Given the description of an element on the screen output the (x, y) to click on. 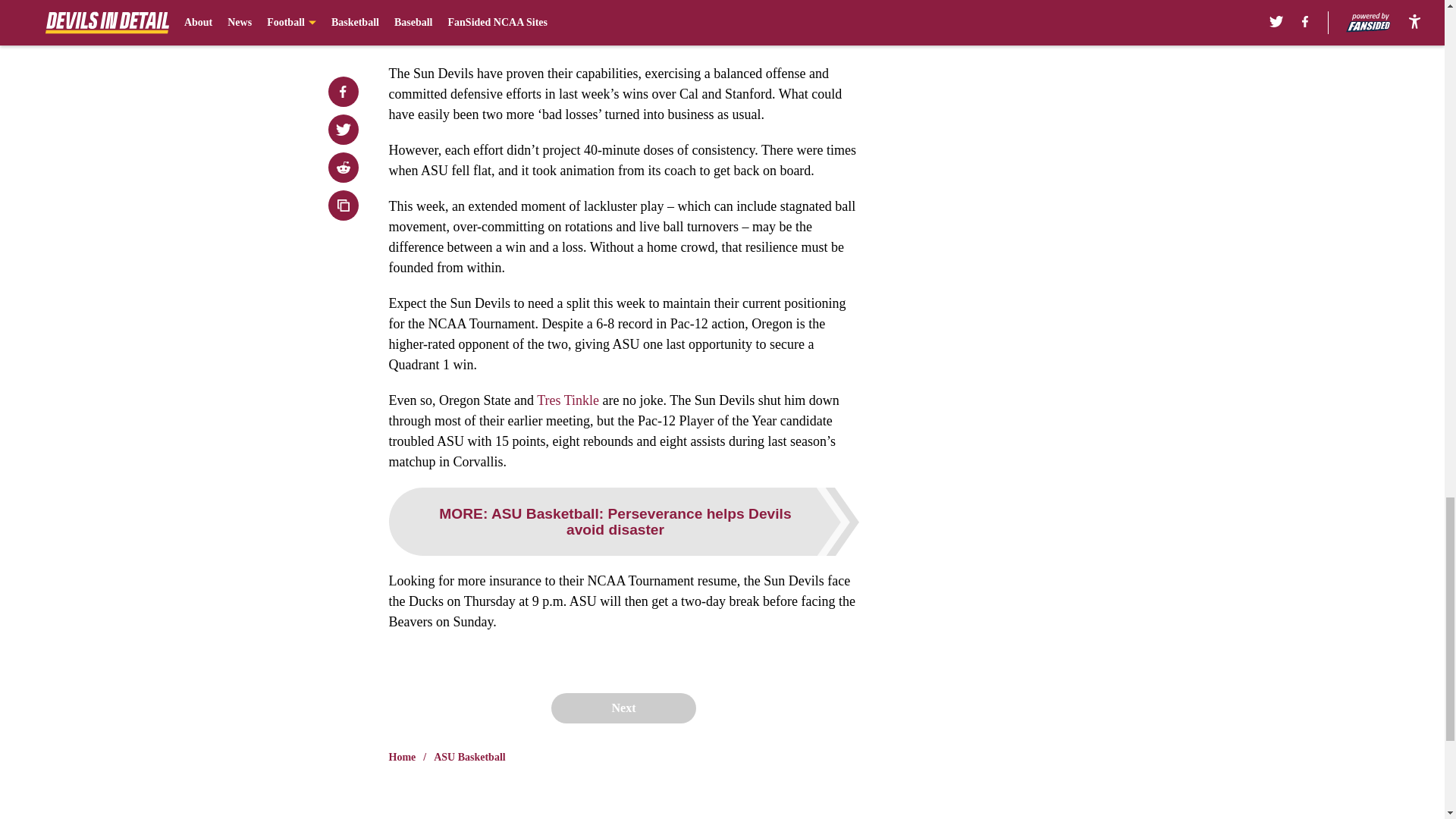
Next (622, 707)
ASU Basketball (469, 757)
Tres Tinkle (567, 400)
Home (401, 757)
